Given the description of an element on the screen output the (x, y) to click on. 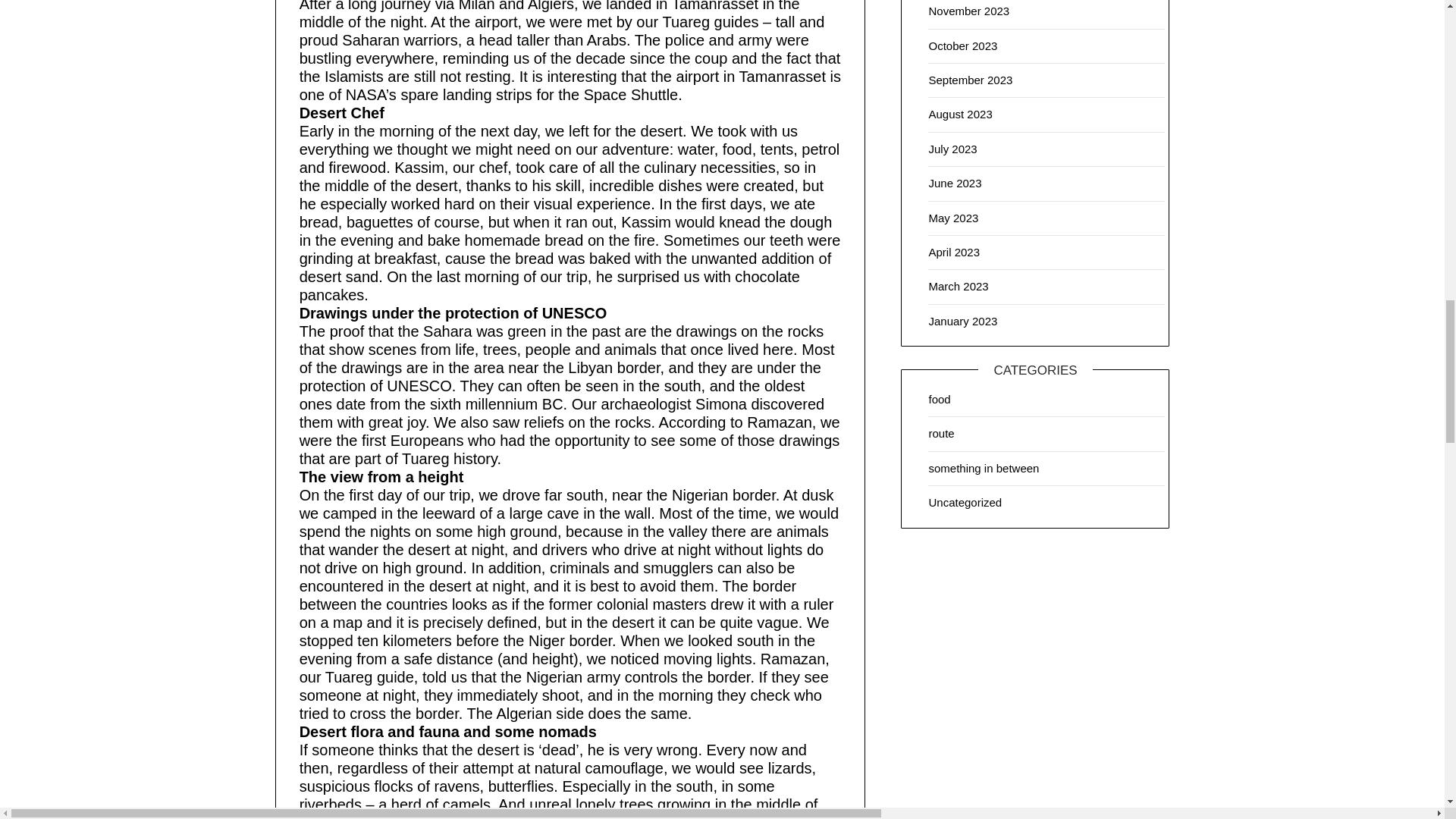
January 2023 (962, 320)
November 2023 (968, 10)
October 2023 (962, 45)
May 2023 (953, 217)
September 2023 (969, 79)
March 2023 (958, 286)
July 2023 (952, 148)
June 2023 (954, 182)
April 2023 (953, 251)
August 2023 (959, 113)
